Given the description of an element on the screen output the (x, y) to click on. 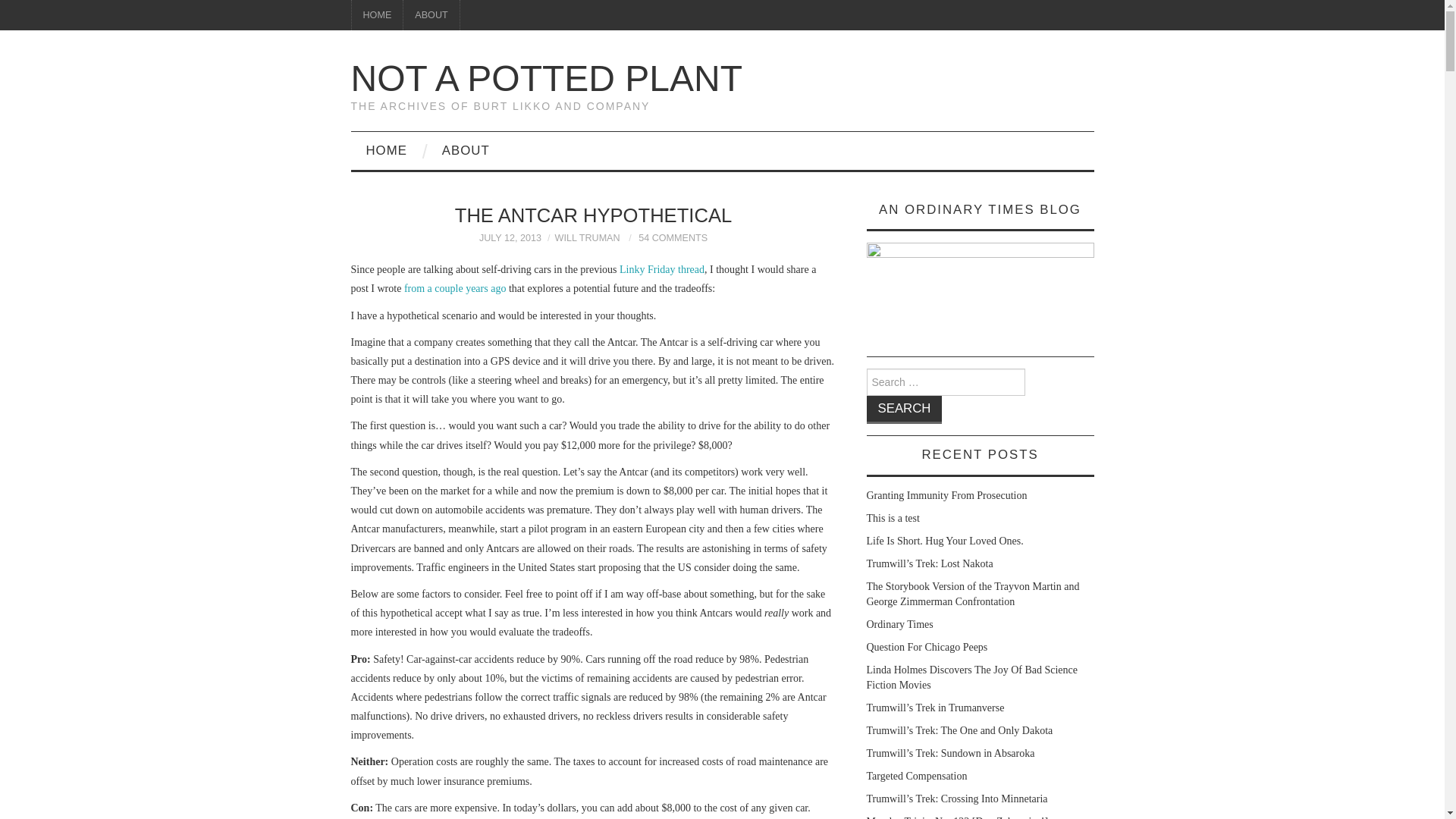
Not a Potted Plant (546, 78)
NOT A POTTED PLANT (546, 78)
ABOUT (430, 15)
JULY 12, 2013 (510, 237)
Search for: (945, 381)
from a couple years ago (455, 288)
Linky Friday thread (662, 269)
WILL TRUMAN (587, 237)
Search (904, 409)
HOME (377, 15)
